Given the description of an element on the screen output the (x, y) to click on. 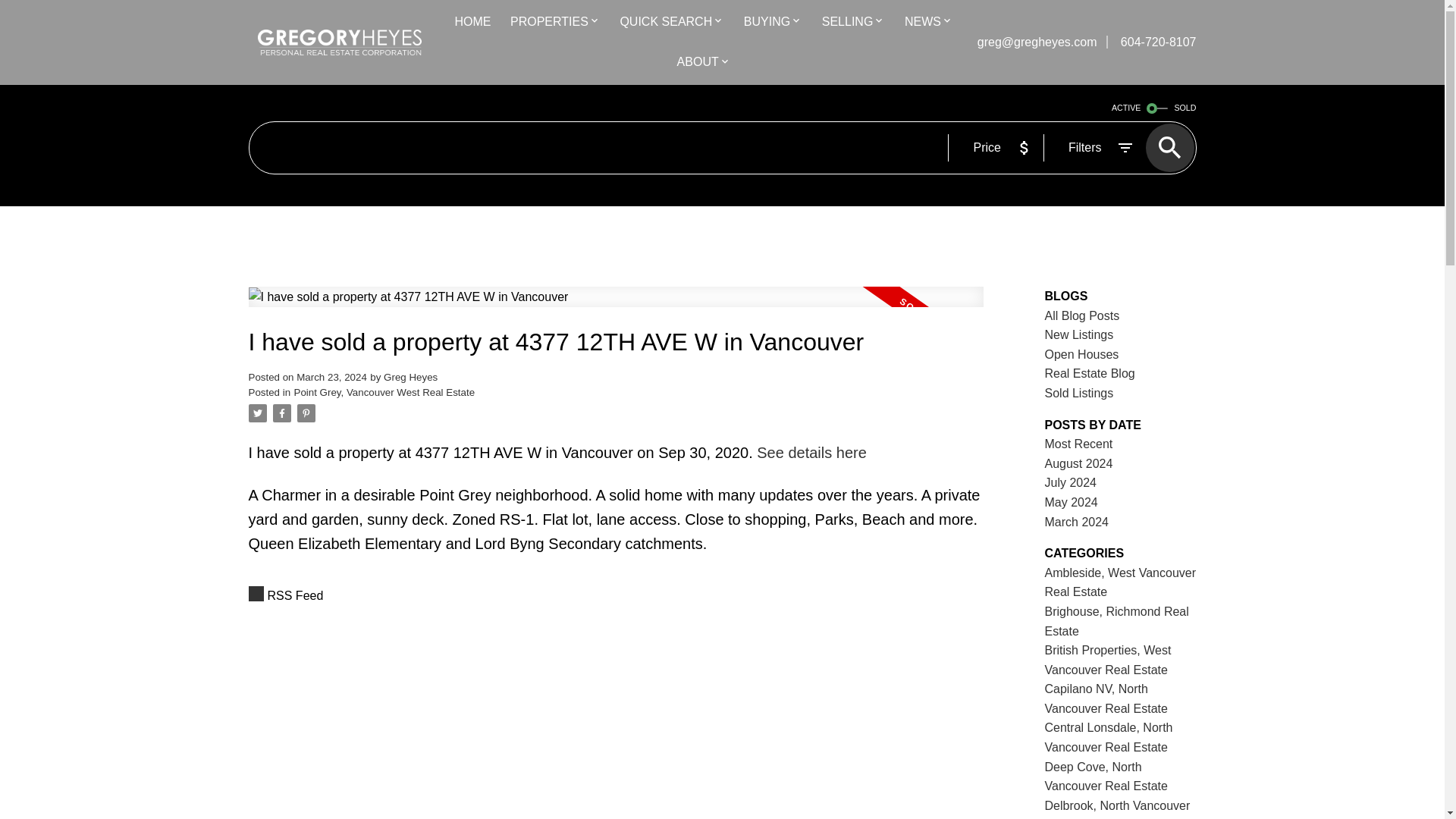
HOME (472, 22)
New Listings (1079, 334)
Point Grey, Vancouver West Real Estate (385, 392)
Open Houses (1082, 354)
See details here (811, 452)
Real Estate Blog (1090, 373)
  604-720-8107 (1151, 42)
All Blog Posts (1082, 315)
Most Recent (1079, 443)
RSS (616, 596)
